Given the description of an element on the screen output the (x, y) to click on. 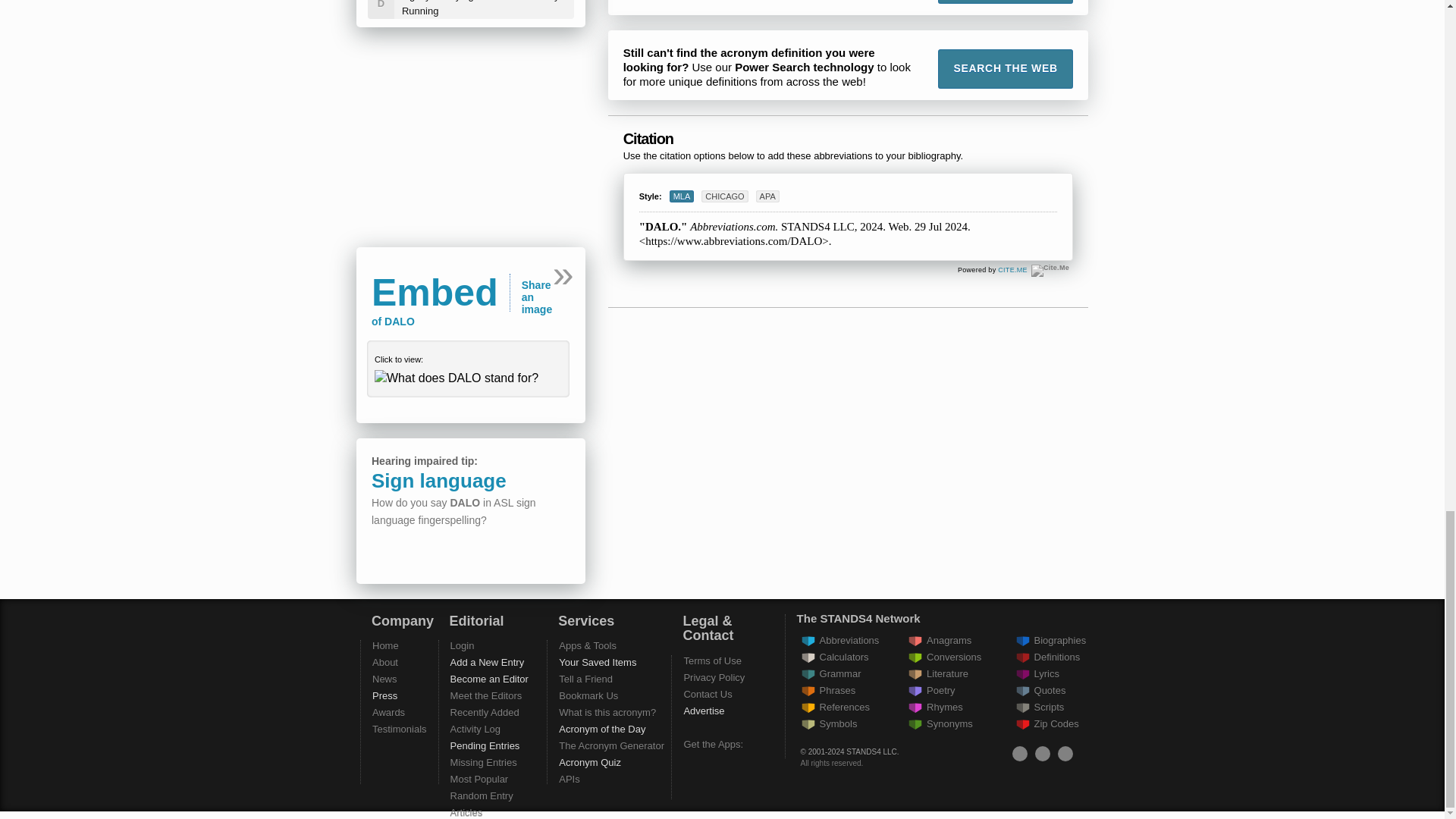
Cite.Me (1050, 270)
Cite.Me (1012, 269)
Cite.Me (1049, 270)
